Given the description of an element on the screen output the (x, y) to click on. 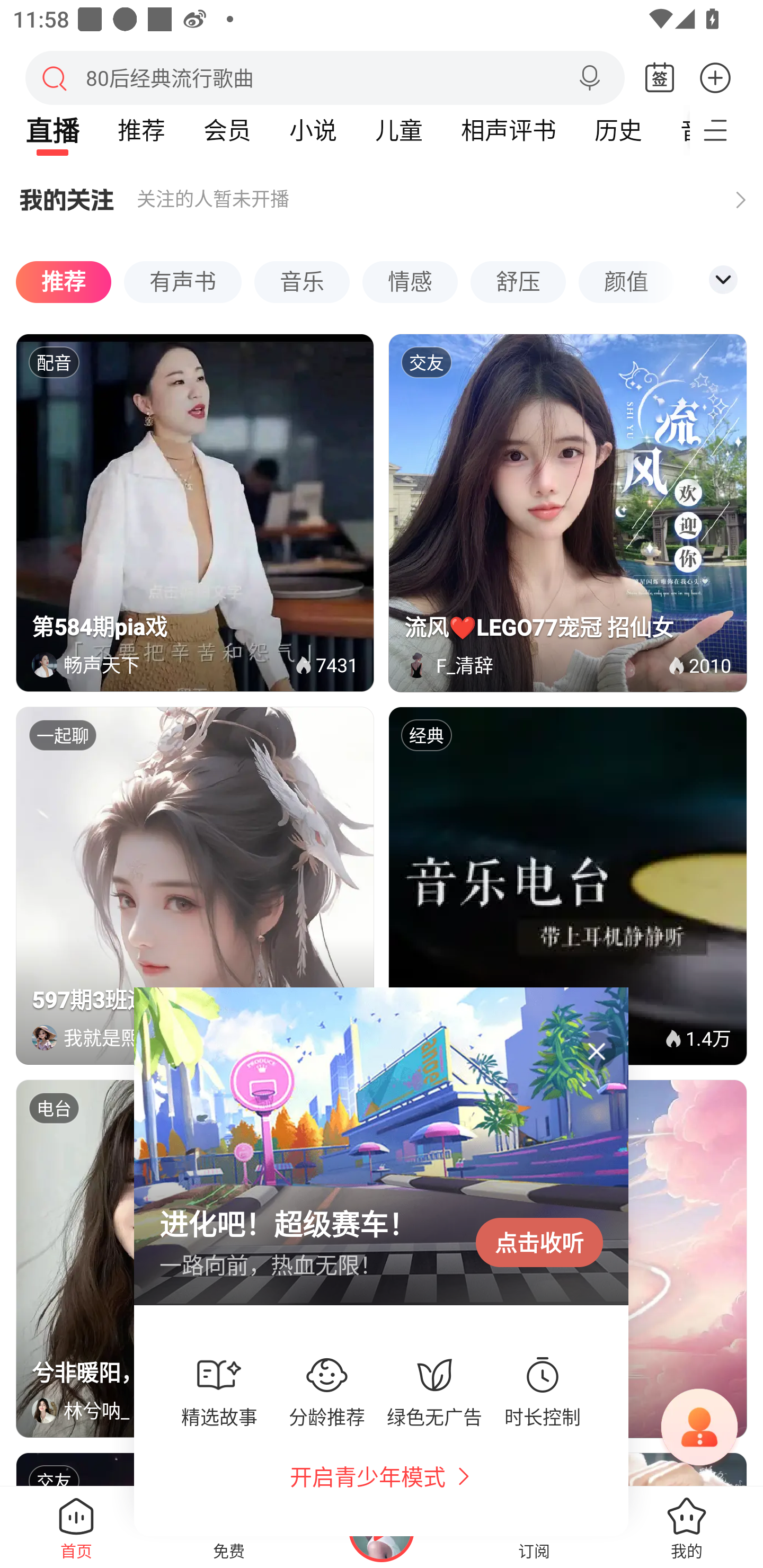
开启青少年模式 (367, 1476)
